Given the description of an element on the screen output the (x, y) to click on. 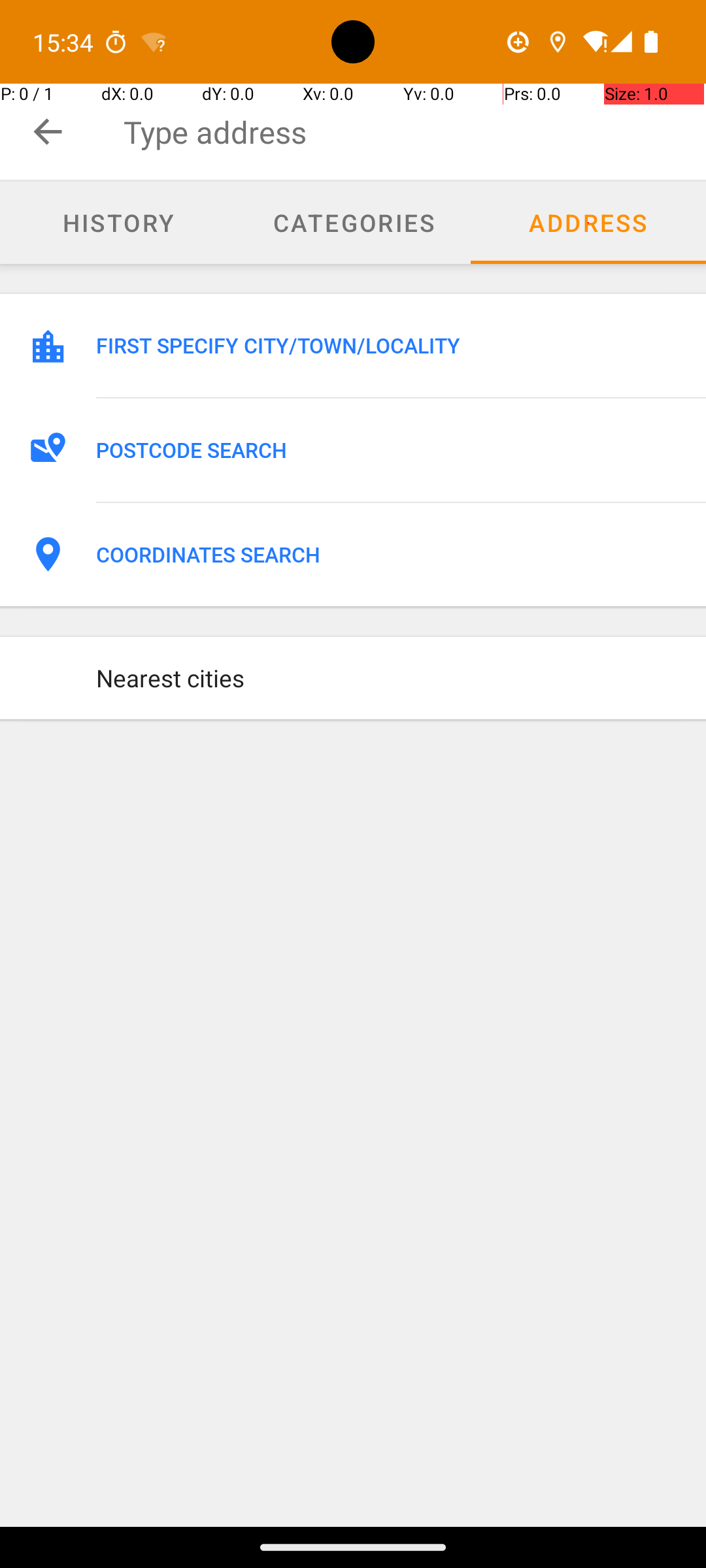
Type address Element type: android.widget.EditText (414, 131)
FIRST SPECIFY CITY/TOWN/LOCALITY Element type: android.widget.TextView (387, 345)
POSTCODE SEARCH Element type: android.widget.TextView (387, 450)
COORDINATES SEARCH Element type: android.widget.TextView (387, 554)
Nearest cities Element type: android.widget.TextView (387, 678)
